Given the description of an element on the screen output the (x, y) to click on. 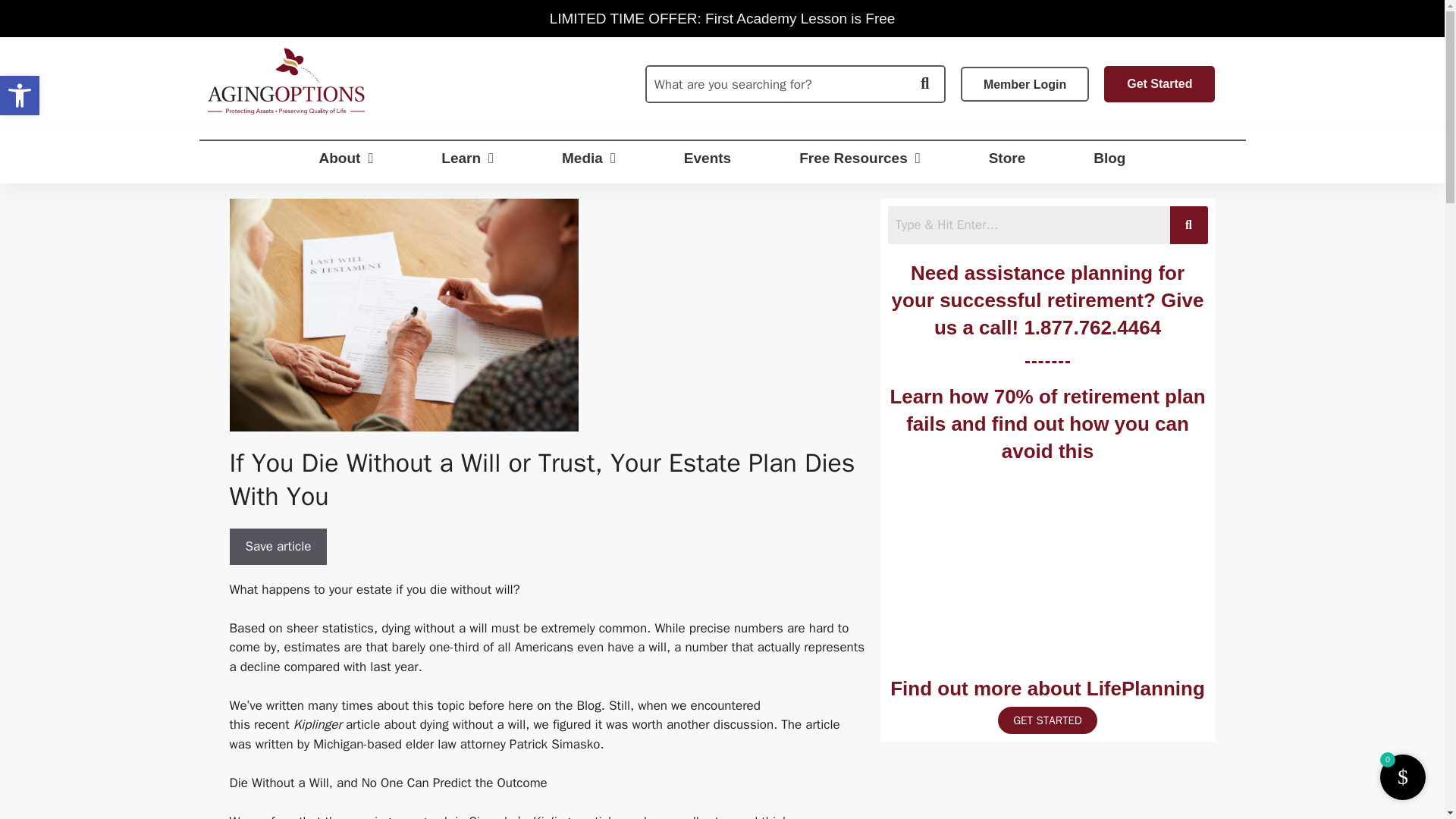
Get Started (1158, 84)
Accessibility Tools (19, 95)
Accessibility Tools (19, 95)
LIMITED TIME OFFER: First Academy Lesson is Free (19, 95)
Search (722, 18)
Search (1027, 225)
Member Login (775, 83)
